Given the description of an element on the screen output the (x, y) to click on. 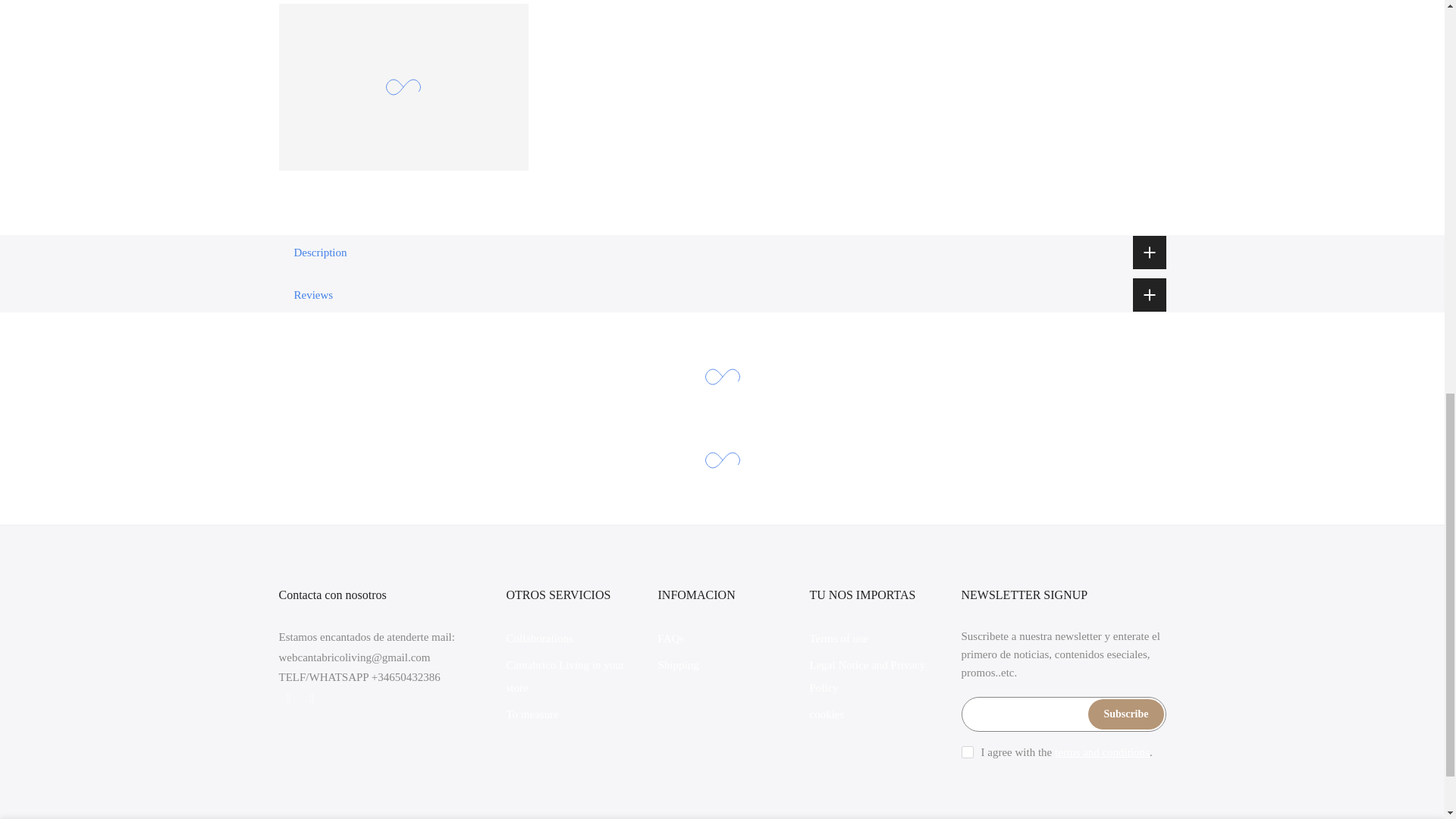
Cantabrico Living in your store (565, 676)
1 (1001, 35)
Reviews (722, 294)
To measure (532, 714)
FAQs (671, 638)
Description (722, 252)
Collaborations (539, 638)
